Given the description of an element on the screen output the (x, y) to click on. 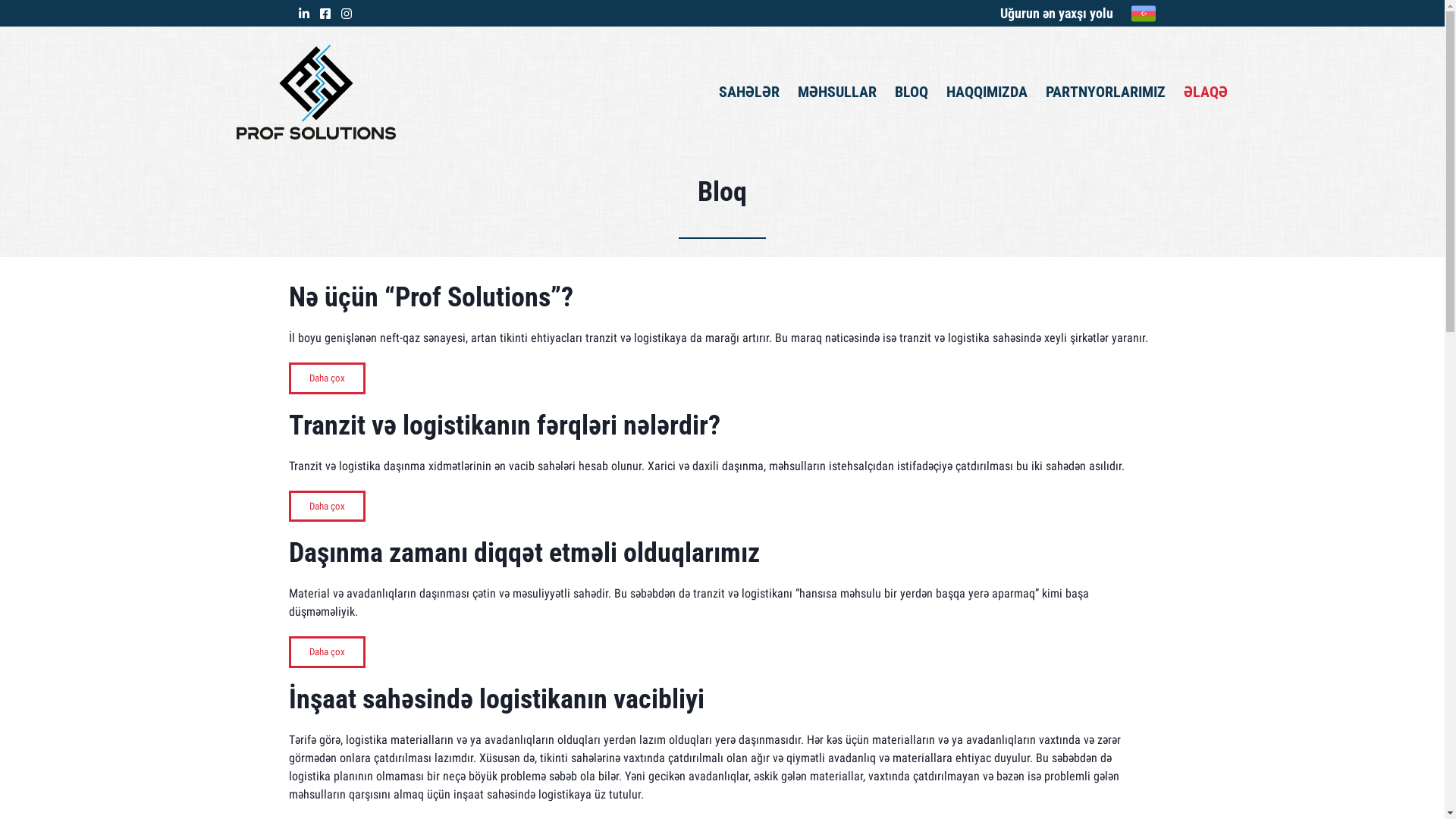
BLOQ Element type: text (911, 91)
PARTNYORLARIMIZ Element type: text (1105, 91)
HAQQIMIZDA Element type: text (986, 91)
